Given the description of an element on the screen output the (x, y) to click on. 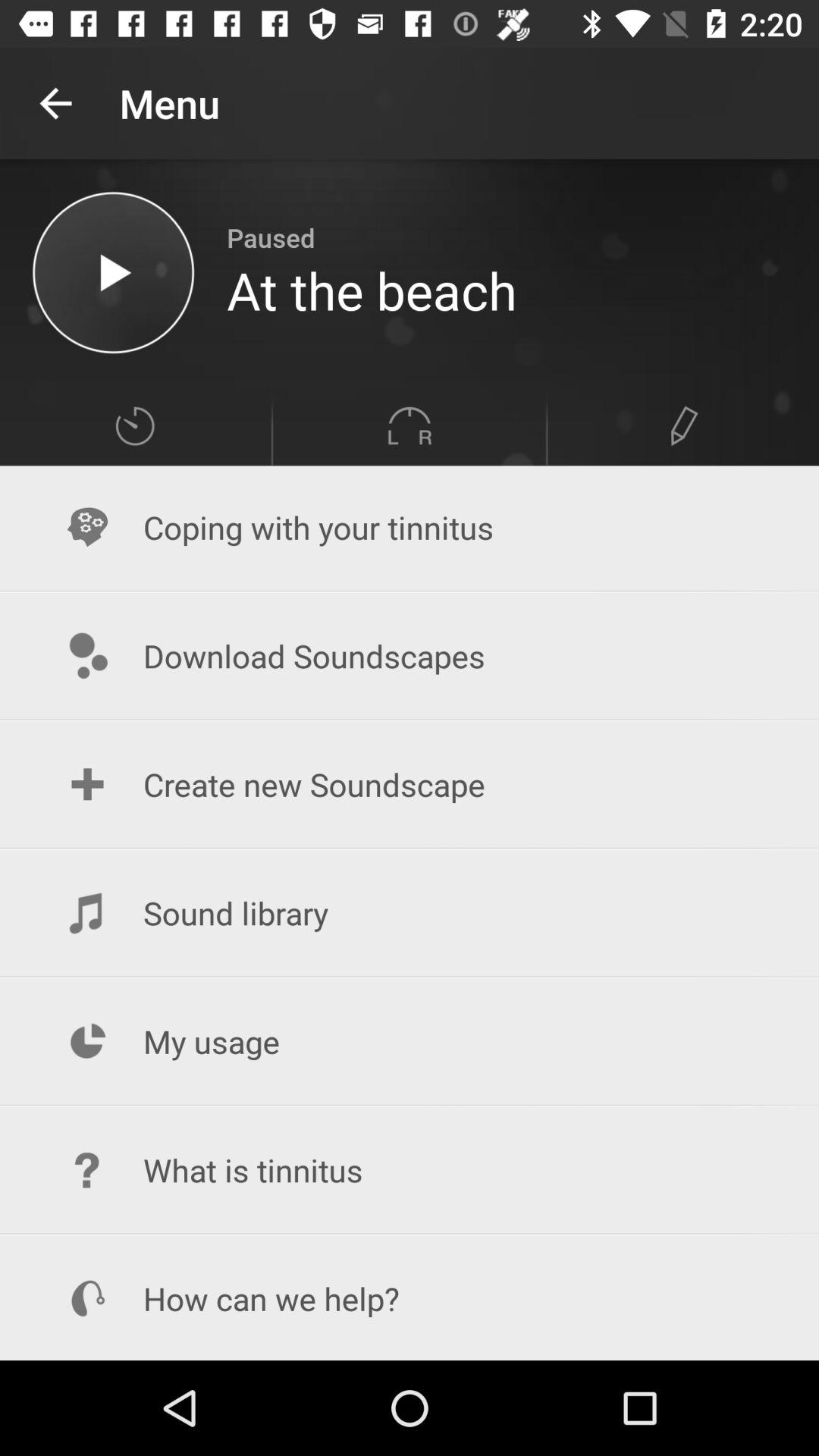
time (134, 425)
